Given the description of an element on the screen output the (x, y) to click on. 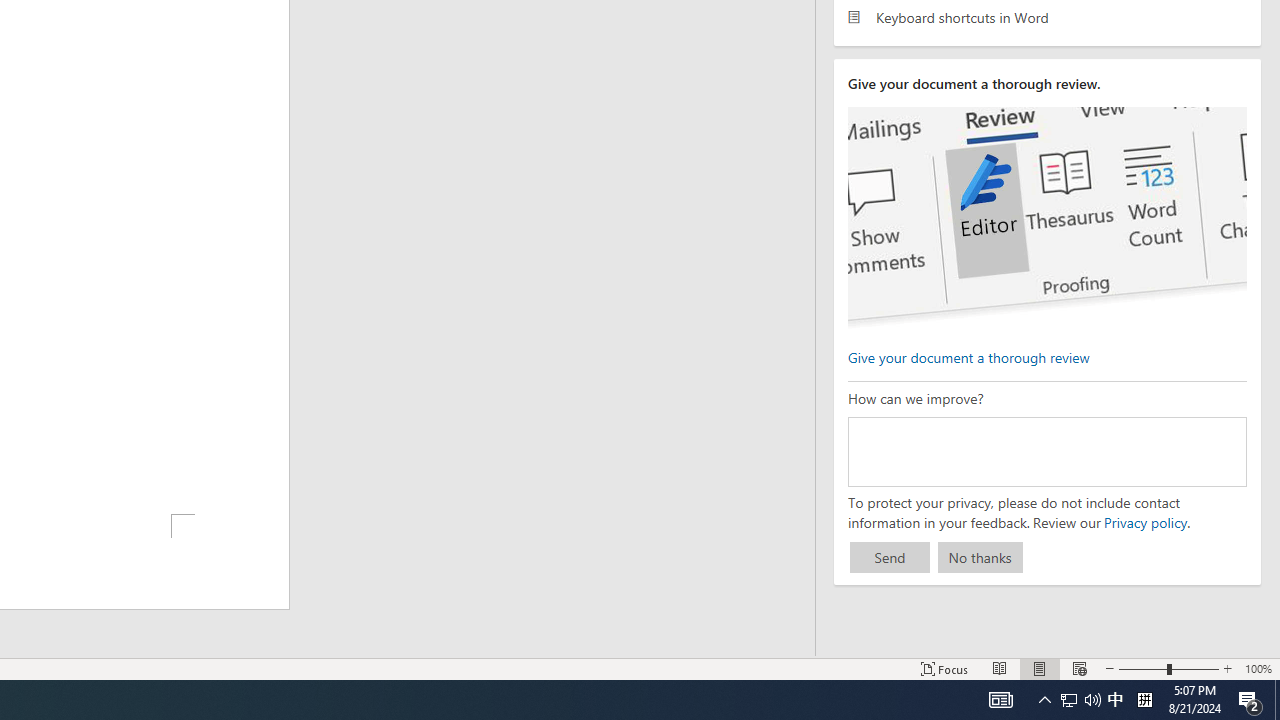
How can we improve? (1046, 451)
Zoom 100% (1258, 668)
No thanks (980, 557)
Give your document a thorough review (968, 356)
Send (889, 557)
Keyboard shortcuts in Word (1047, 16)
editor ui screenshot (1046, 218)
Privacy policy (1144, 522)
